Given the description of an element on the screen output the (x, y) to click on. 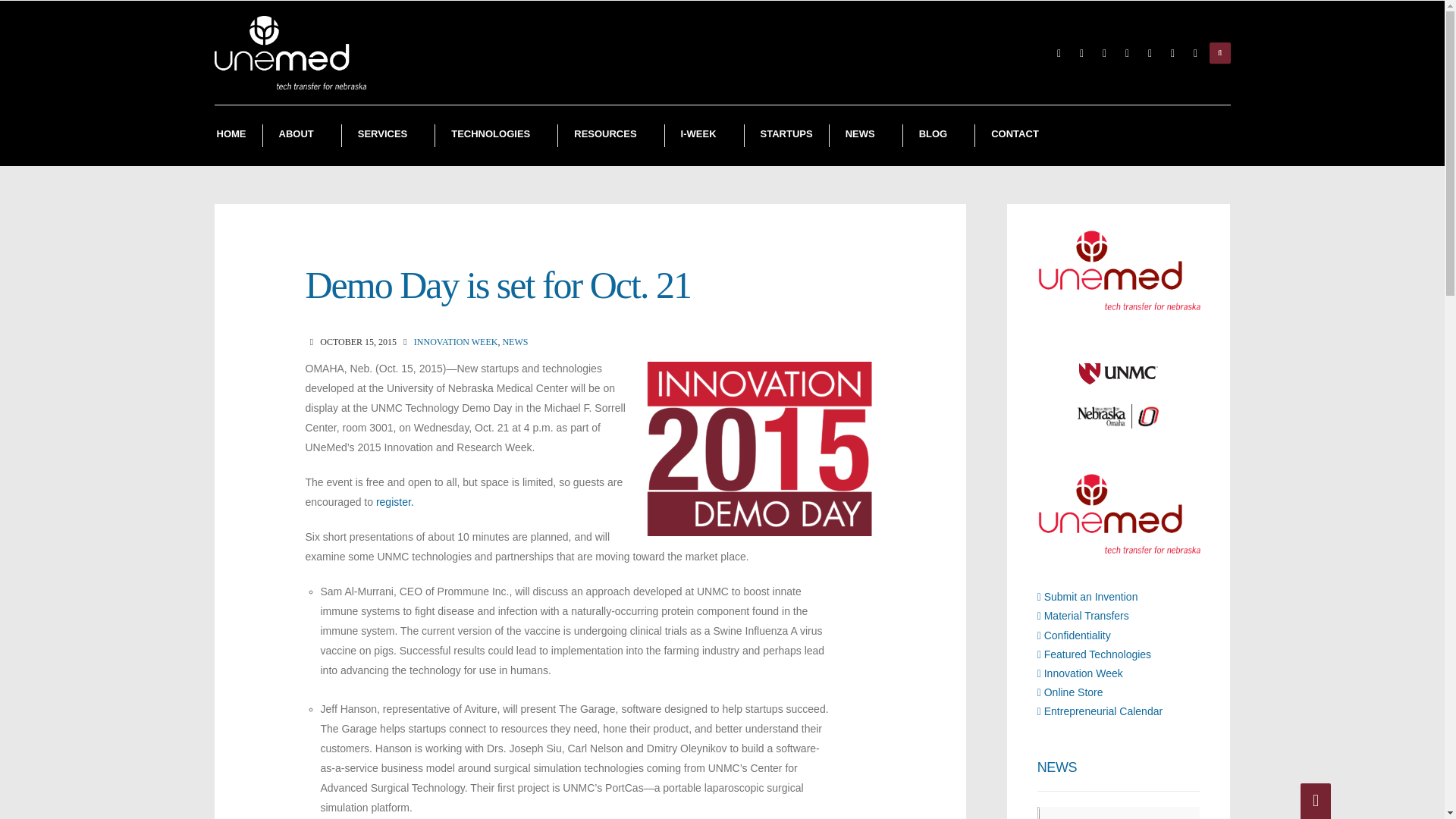
ABOUT (301, 135)
Facebook (1081, 52)
Twitter (1104, 52)
Rss Feed (1058, 52)
LinkedIn (1195, 52)
SERVICES (388, 135)
TECHNOLOGIES (495, 135)
Flickr (1126, 52)
Instagram (1149, 52)
You Tube (1171, 52)
Home (230, 135)
HOME (230, 135)
